Given the description of an element on the screen output the (x, y) to click on. 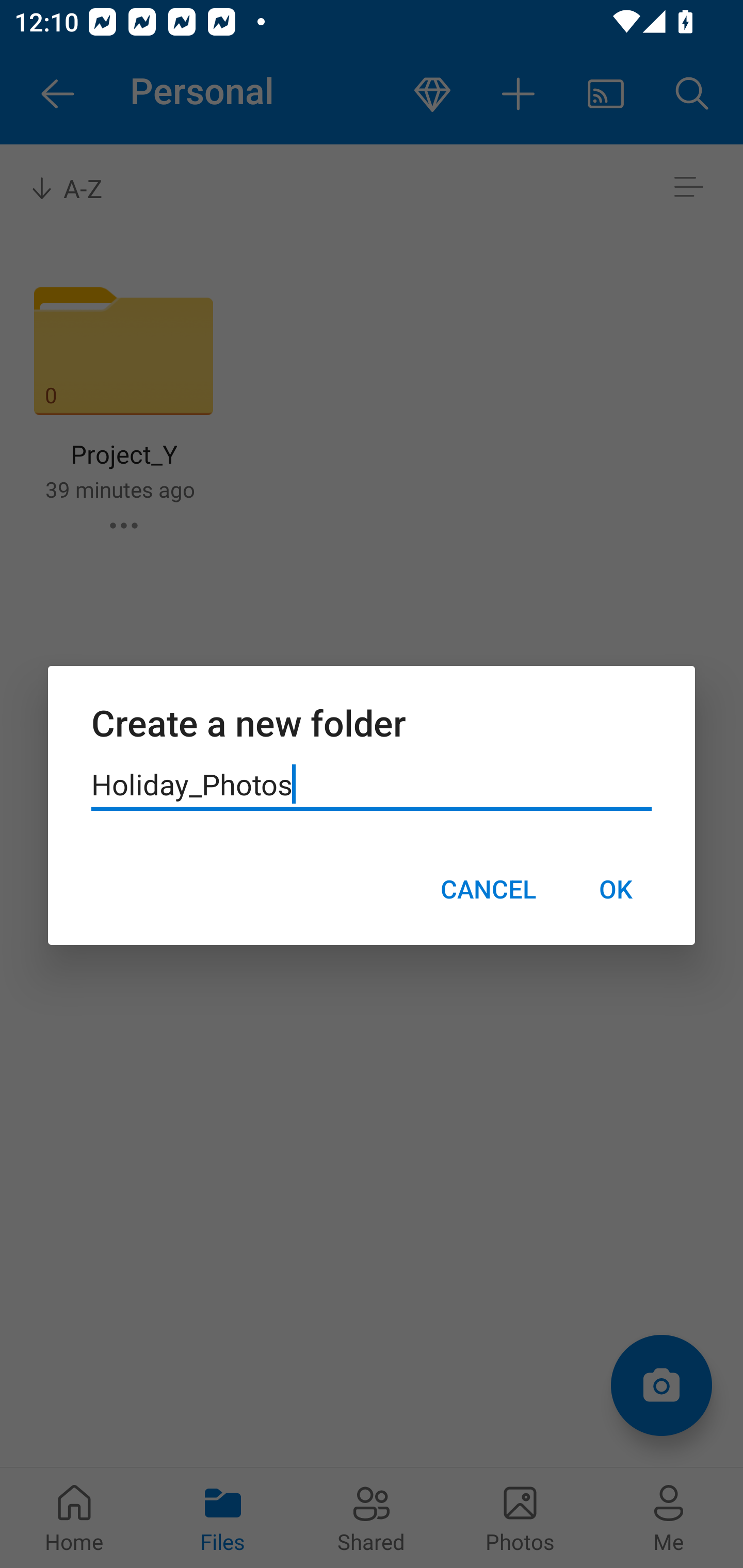
Holiday_Photos (371, 784)
CANCEL (488, 888)
OK (615, 888)
